Given the description of an element on the screen output the (x, y) to click on. 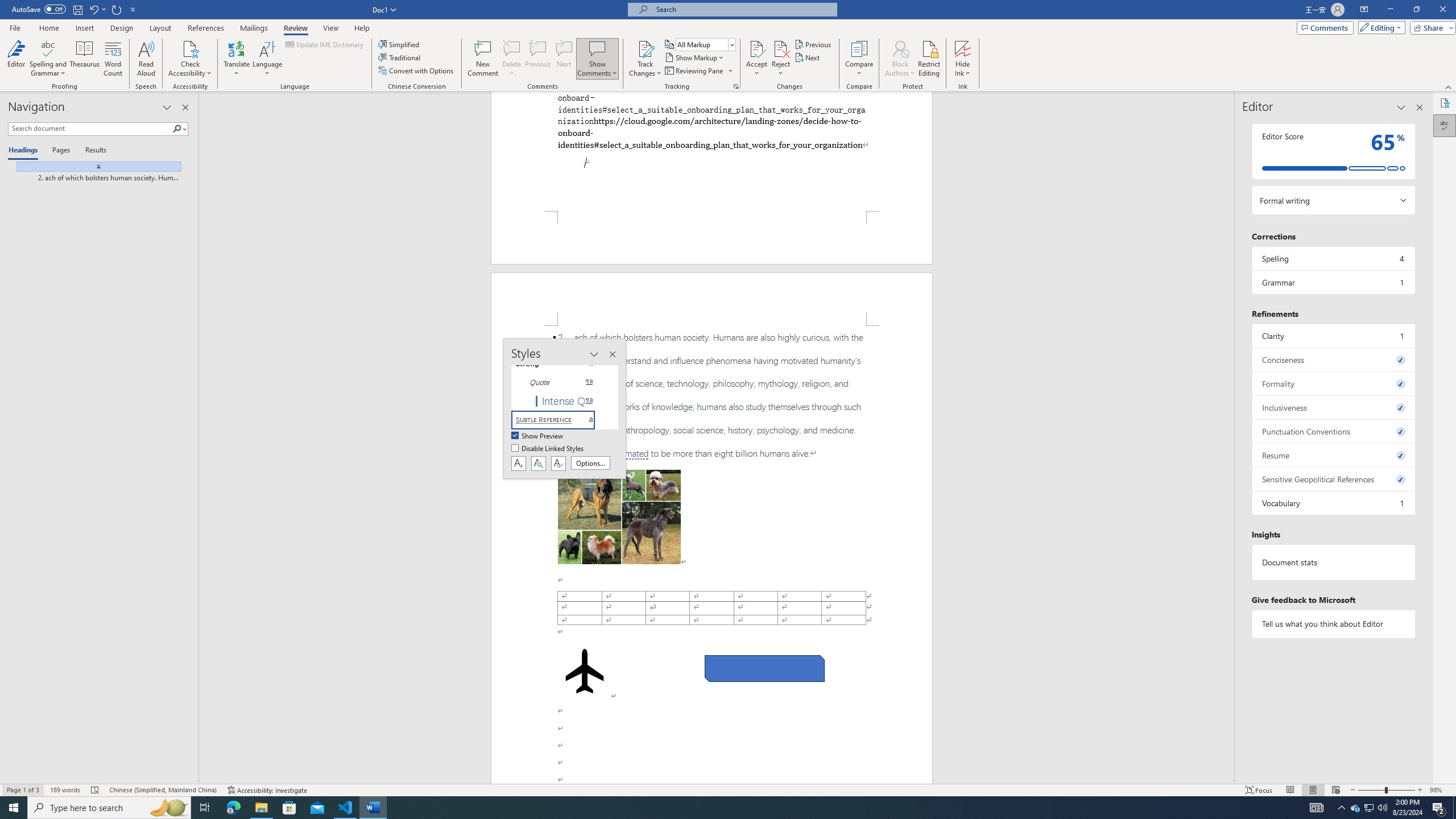
Reviewing Pane (698, 69)
Restrict Editing (929, 58)
Block Authors (900, 58)
New Comment (482, 58)
Microsoft search (742, 9)
Spelling and Grammar (48, 58)
Next (808, 56)
Previous (813, 44)
Quote (559, 382)
Show Markup (695, 56)
